Given the description of an element on the screen output the (x, y) to click on. 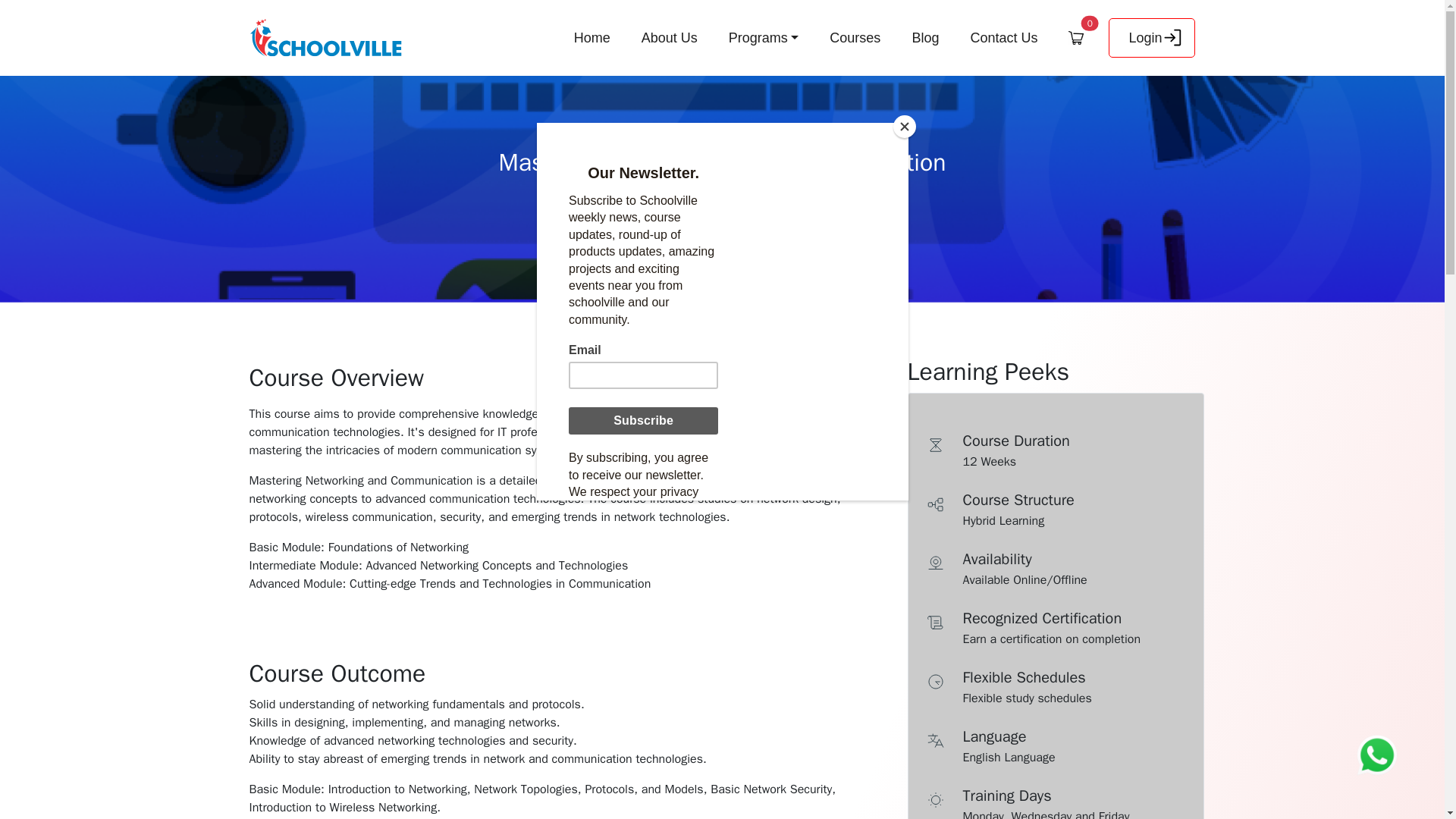
Login (1150, 37)
Home (591, 38)
Blog (924, 38)
Programs (763, 38)
Contact Us (1003, 38)
Courses (855, 38)
About Us (668, 38)
